Given the description of an element on the screen output the (x, y) to click on. 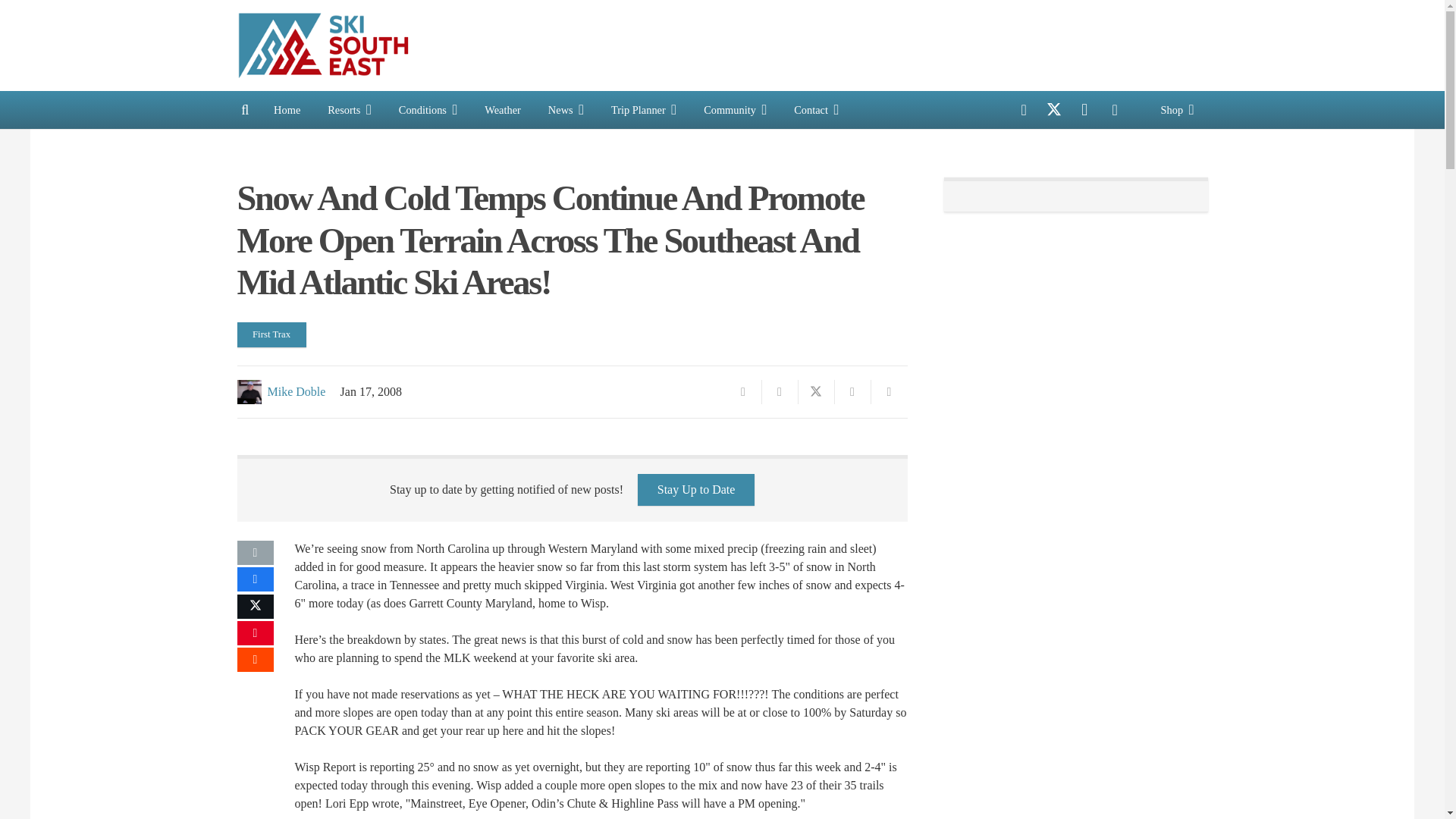
Resorts (349, 109)
Tweet this (815, 392)
Instagram (1083, 110)
Share this (254, 659)
Share this (779, 392)
Discord (1114, 110)
Email this (254, 552)
Share this (254, 579)
Twitter (1053, 110)
Tweet this (254, 606)
